Given the description of an element on the screen output the (x, y) to click on. 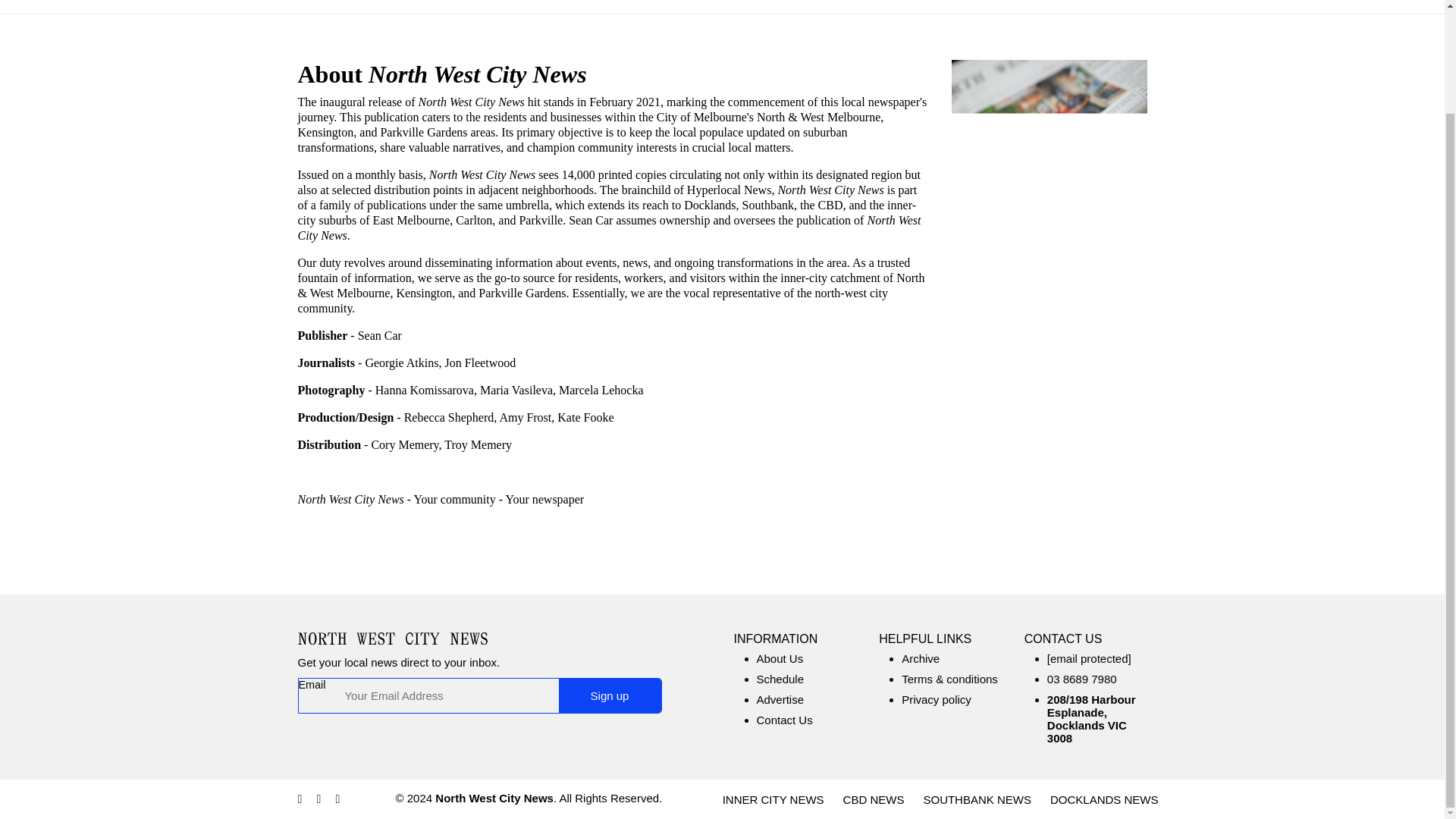
Schedule (781, 678)
SOUTHBANK NEWS (976, 799)
Advertise (781, 698)
INNER CITY NEWS (773, 799)
Privacy policy (936, 698)
Archive (920, 658)
CBD NEWS (873, 799)
03 8689 7980 (1081, 678)
Sign up (609, 695)
About Us (780, 658)
Contact Us (784, 719)
DOCKLANDS NEWS (1103, 799)
